Given the description of an element on the screen output the (x, y) to click on. 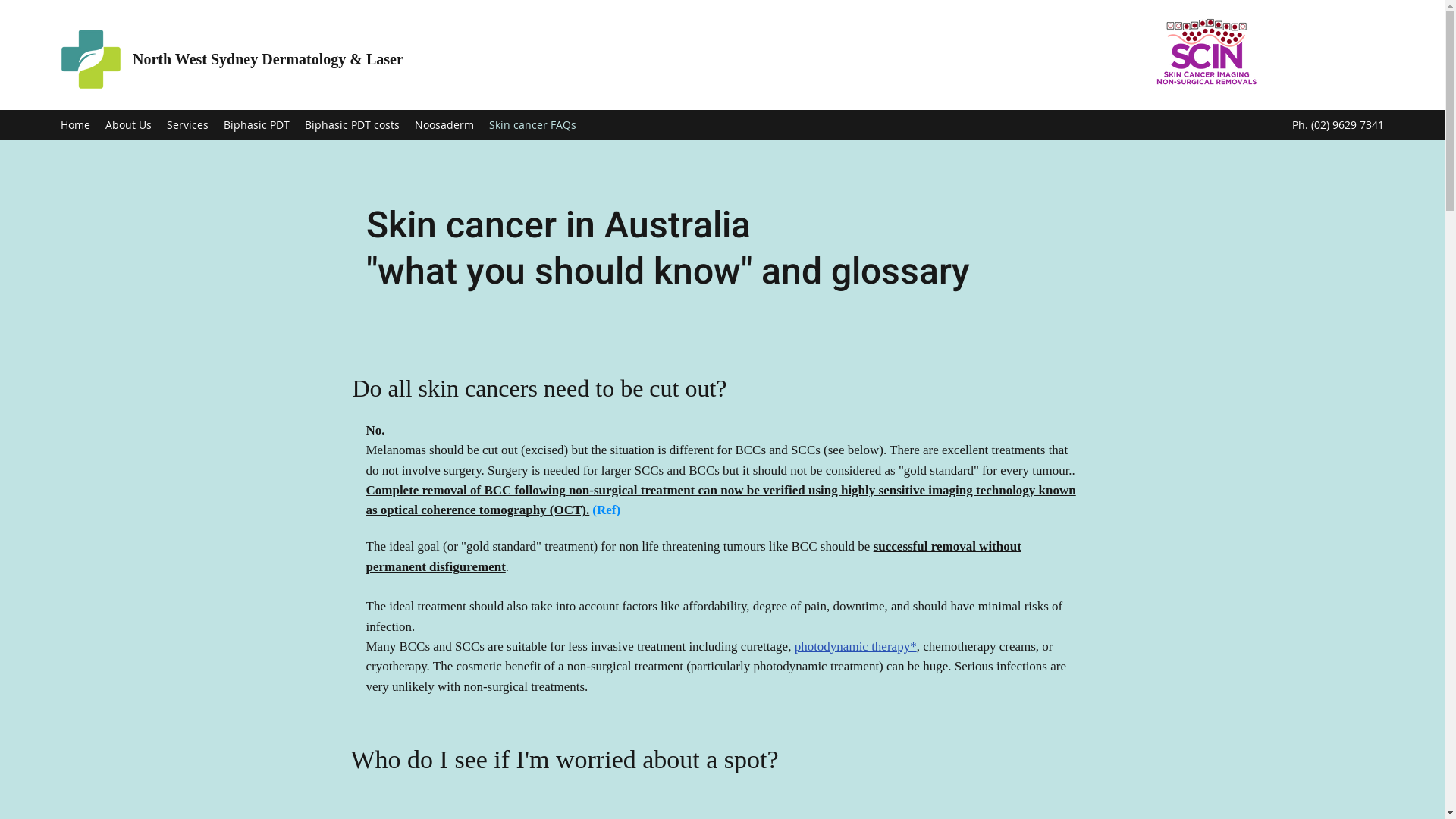
About Us Element type: text (128, 124)
Noosaderm Element type: text (444, 124)
Services Element type: text (187, 124)
Biphasic PDT costs Element type: text (352, 124)
Skin cancer FAQs Element type: text (532, 124)
Home Element type: text (75, 124)
photodynamic therapy* Element type: text (855, 646)
Ref Element type: text (605, 509)
Biphasic PDT Element type: text (256, 124)
Skin Cancer Imaging Australia Logo Final Element type: hover (1206, 52)
